Given the description of an element on the screen output the (x, y) to click on. 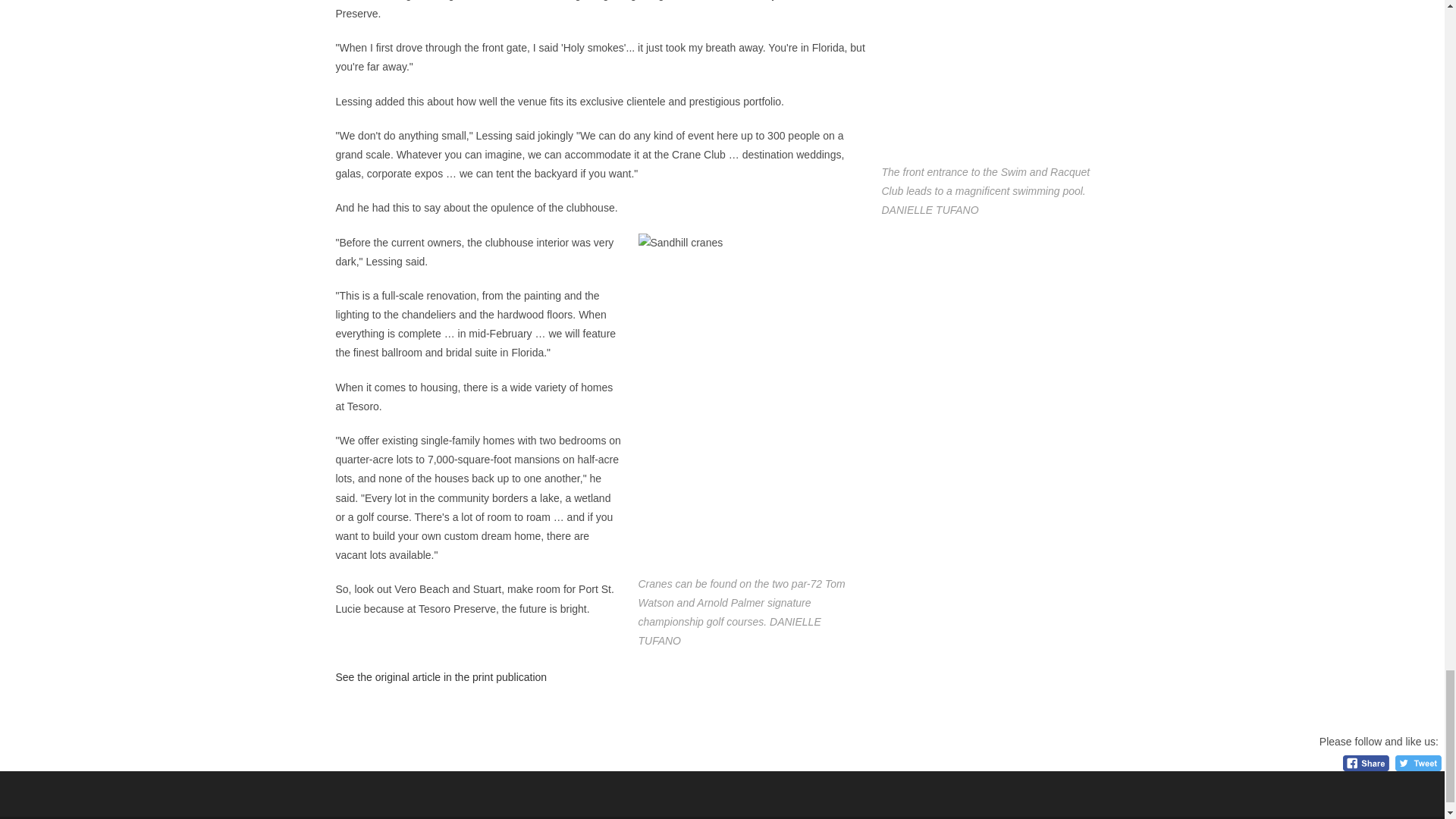
Tweet (1418, 763)
Facebook Share (1365, 763)
